Given the description of an element on the screen output the (x, y) to click on. 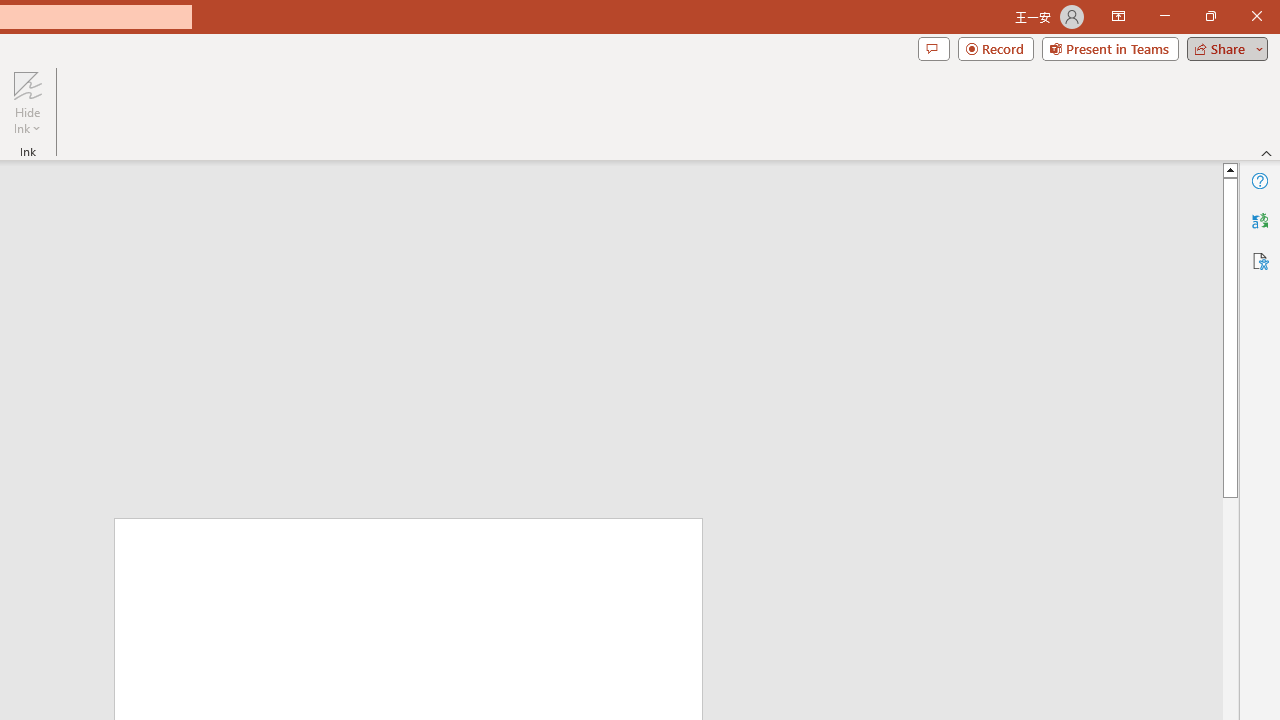
Hide Ink (27, 102)
Hide Ink (27, 84)
Translator (1260, 220)
